Given the description of an element on the screen output the (x, y) to click on. 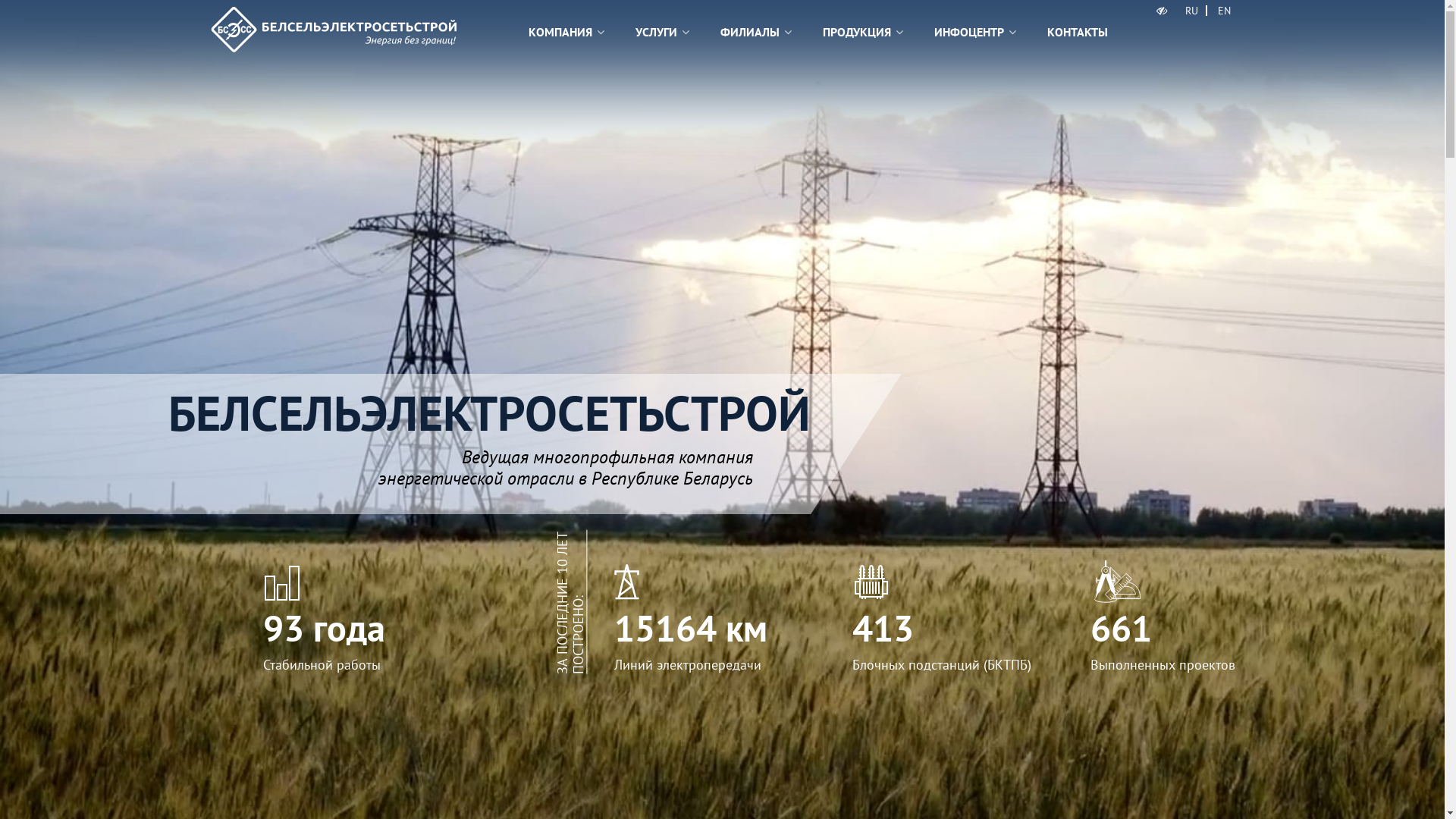
  Element type: text (1162, 10)
EN Element type: text (1224, 10)
RU Element type: text (1191, 10)
